Given the description of an element on the screen output the (x, y) to click on. 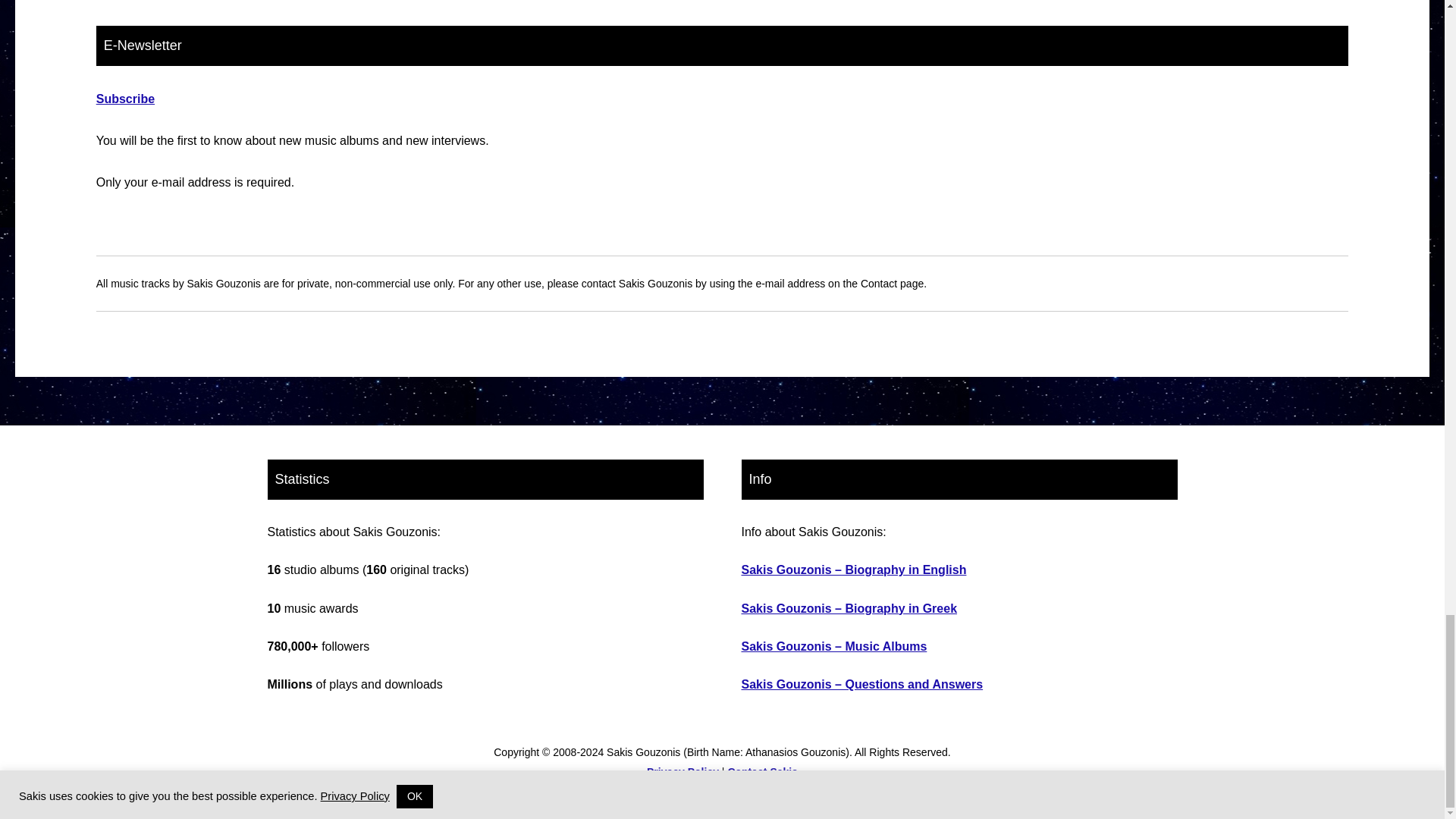
Subscribe (125, 98)
Contact Sakis (761, 771)
Privacy Policy (682, 771)
